Given the description of an element on the screen output the (x, y) to click on. 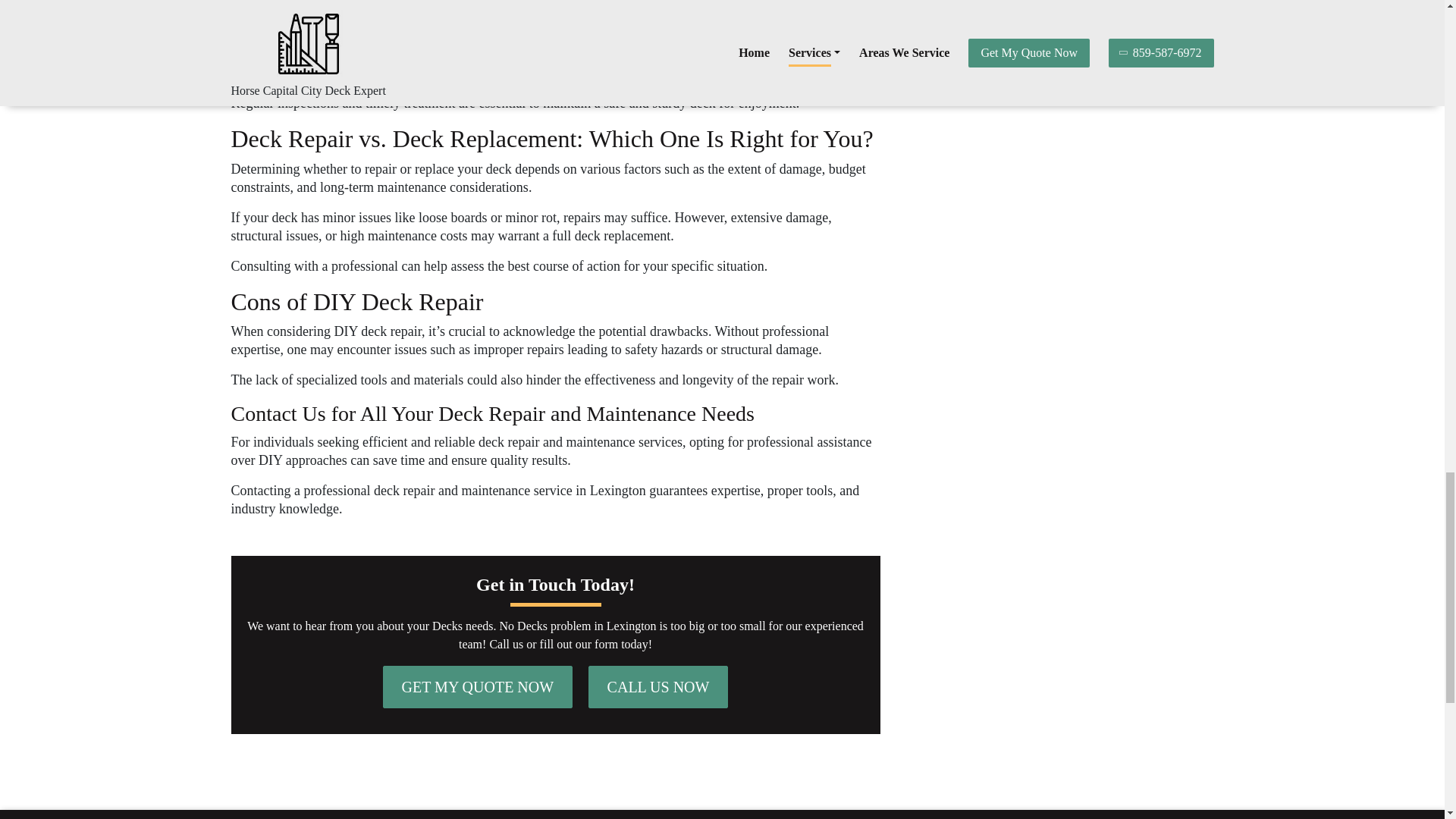
CALL US NOW (658, 686)
GET MY QUOTE NOW (477, 686)
